Given the description of an element on the screen output the (x, y) to click on. 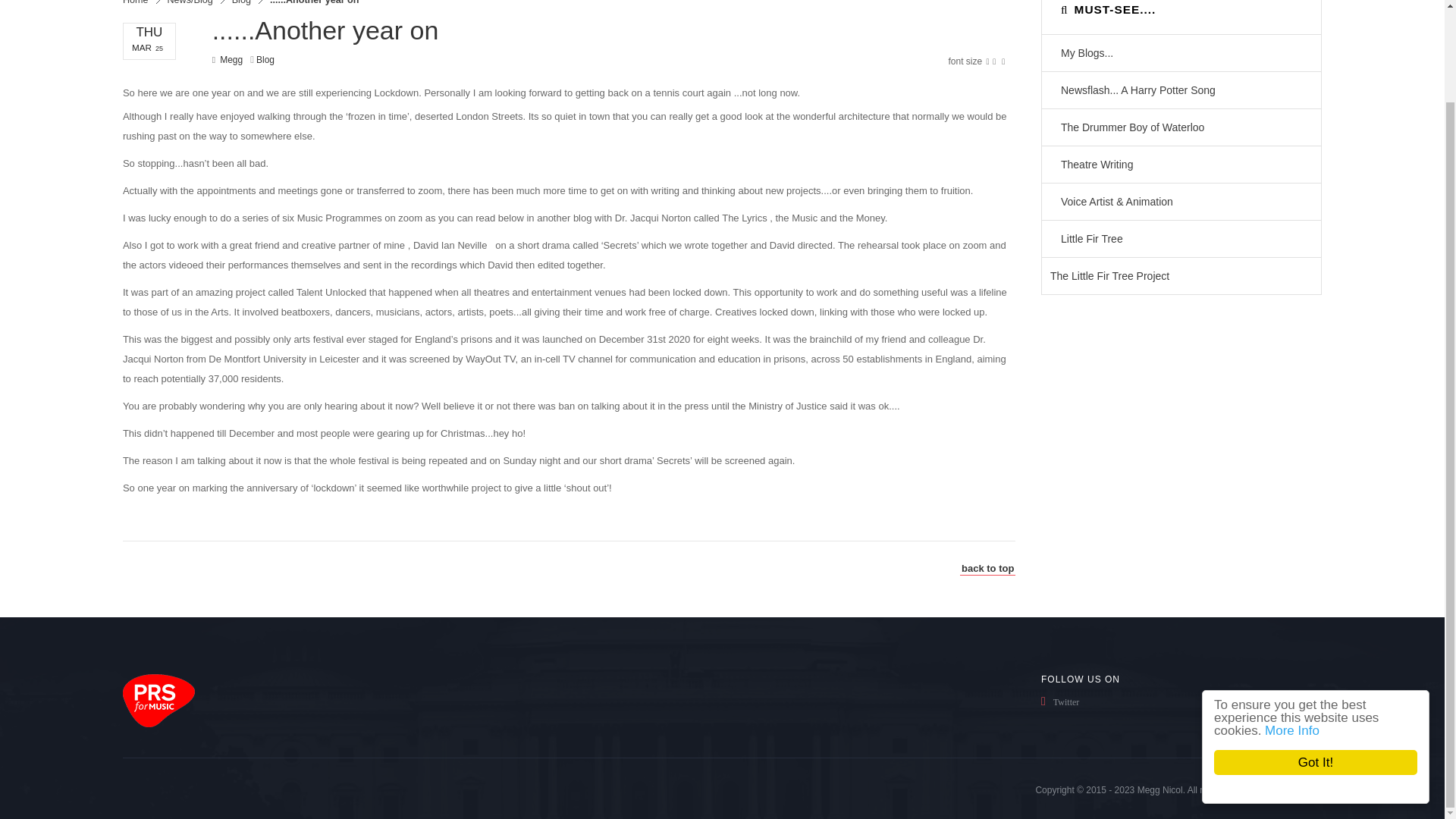
The Little Fir Tree Project (1181, 275)
More Info (1303, 625)
Twitter (1109, 701)
back to top (986, 568)
Blog (265, 59)
My Blogs... (1181, 53)
Privacy Policy (1293, 789)
Twitter (1109, 701)
Got It! (1328, 656)
Theatre Writing (1181, 164)
Blog (246, 3)
Home (141, 3)
Little Fir Tree (1181, 238)
The Drummer Boy of Waterloo (1181, 126)
Megg (231, 59)
